Given the description of an element on the screen output the (x, y) to click on. 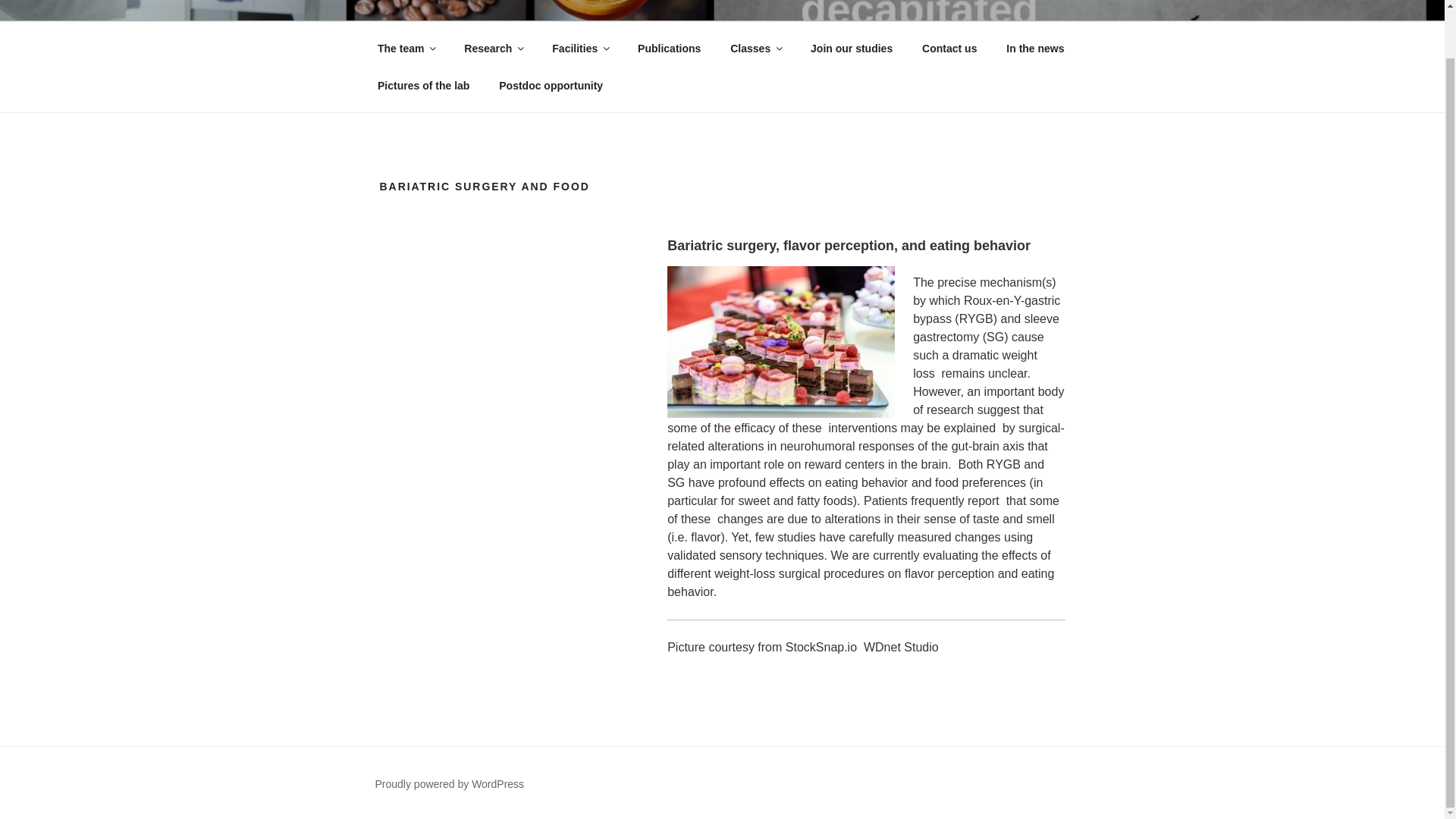
Facilities (579, 48)
The team (405, 48)
Classes (755, 48)
Join our studies (851, 48)
Research (493, 48)
Publications (669, 48)
Contact us (949, 48)
In the news (1034, 48)
Postdoc opportunity (550, 85)
Proudly powered by WordPress (449, 784)
Pictures of the lab (422, 85)
PEPINO LAB (472, 8)
